Given the description of an element on the screen output the (x, y) to click on. 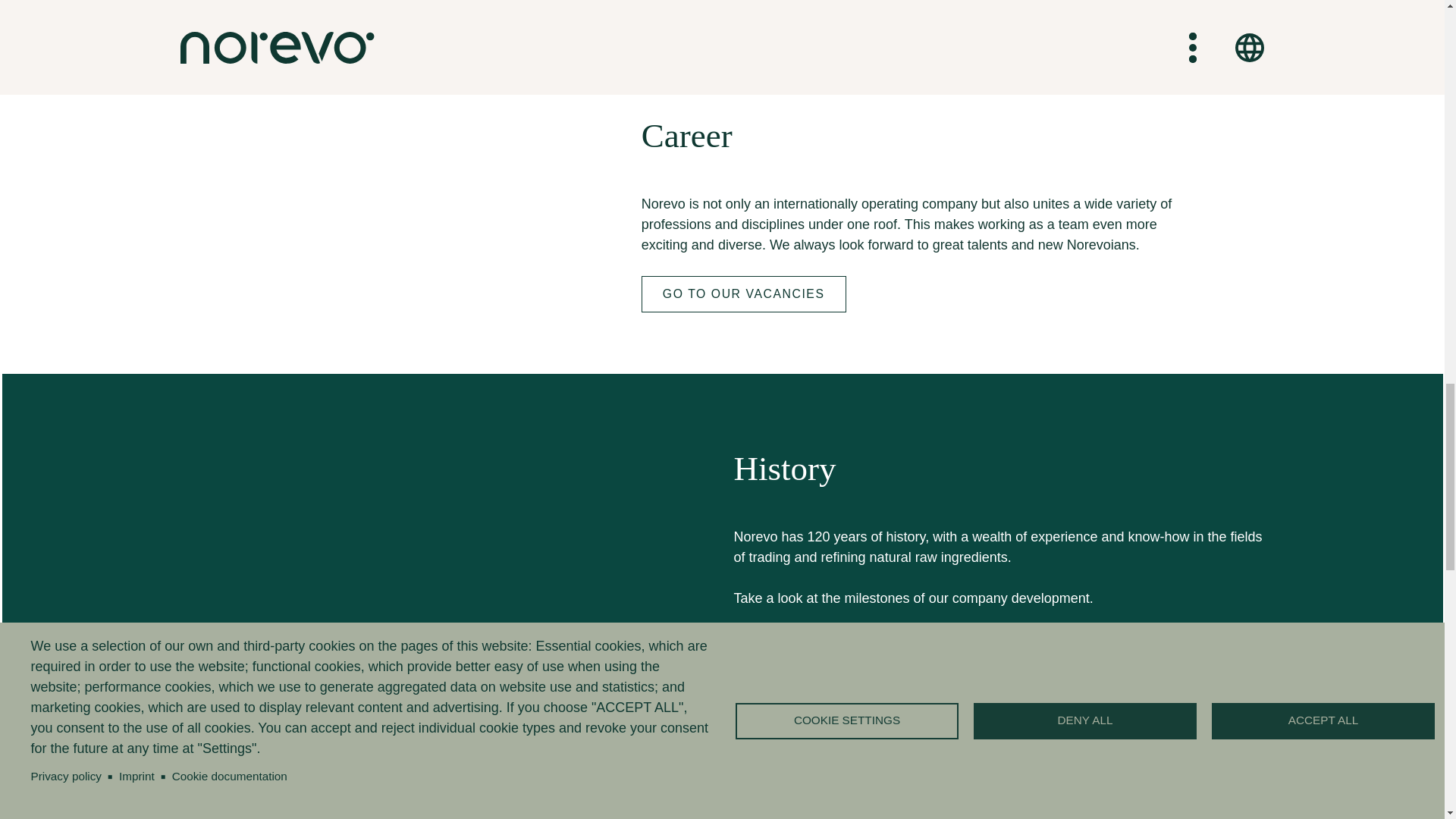
GO TO OUR VACANCIES (743, 294)
GO TO OUR HISTORY (826, 647)
